Given the description of an element on the screen output the (x, y) to click on. 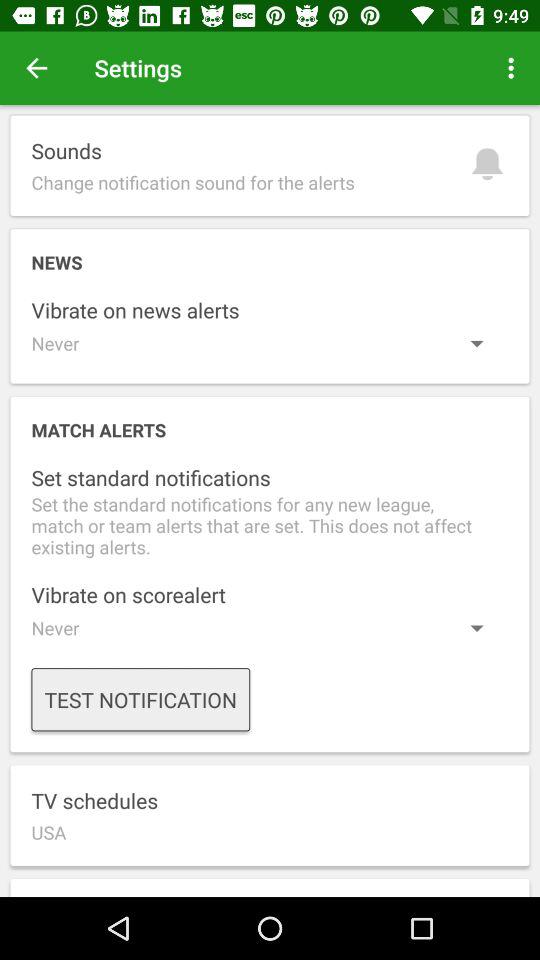
click on the text test notification (140, 699)
go to sounds (269, 166)
go to tv schedules (269, 815)
